Given the description of an element on the screen output the (x, y) to click on. 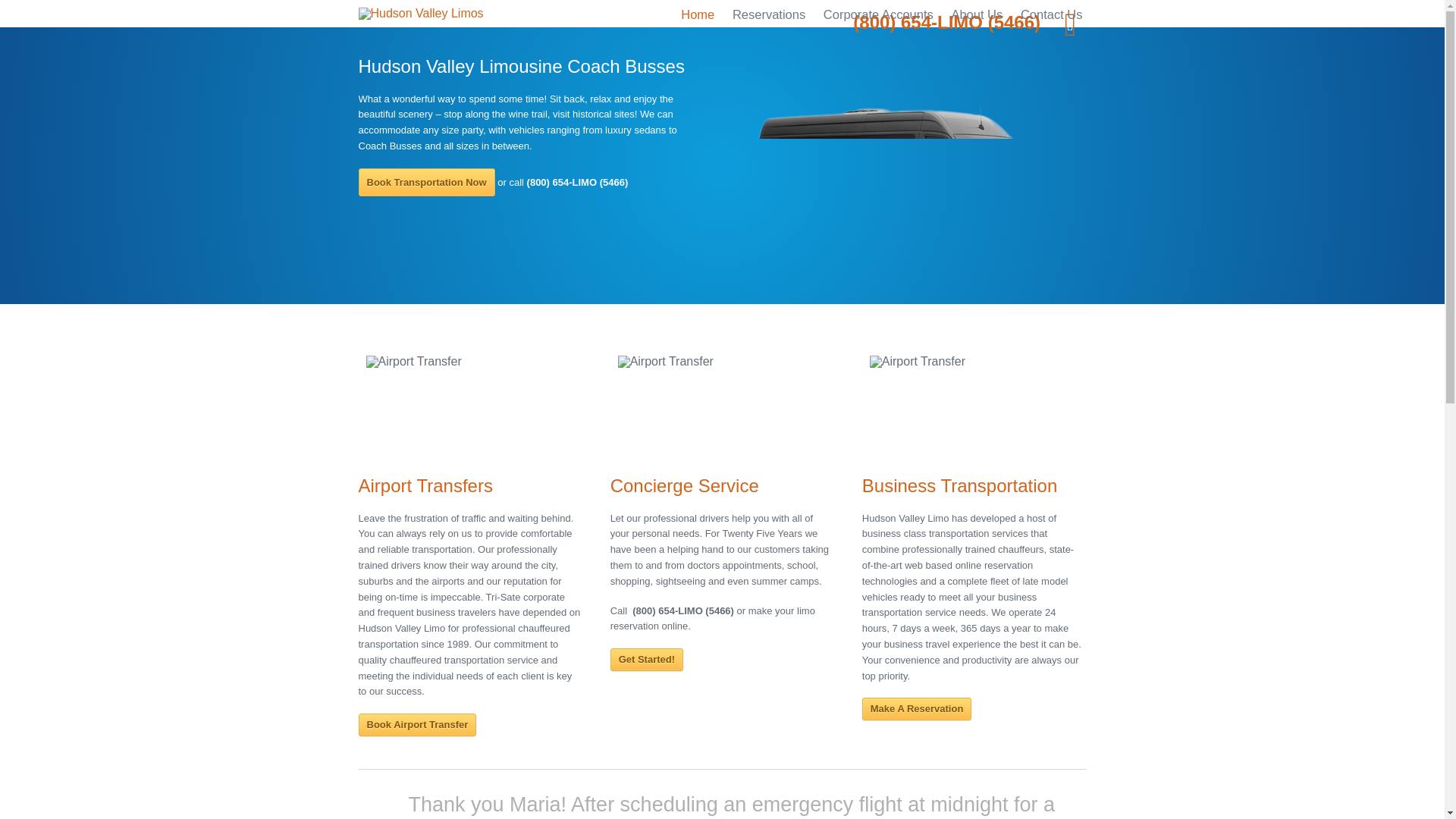
Prev (20, 169)
Book Airport Transfer (417, 724)
Reservations (769, 13)
Contact Us (1051, 13)
Home (697, 13)
About Us (976, 13)
Get Started! (646, 659)
Make A Reservation (916, 708)
Corporate Accounts (878, 13)
Book Transportation Now (426, 182)
